Given the description of an element on the screen output the (x, y) to click on. 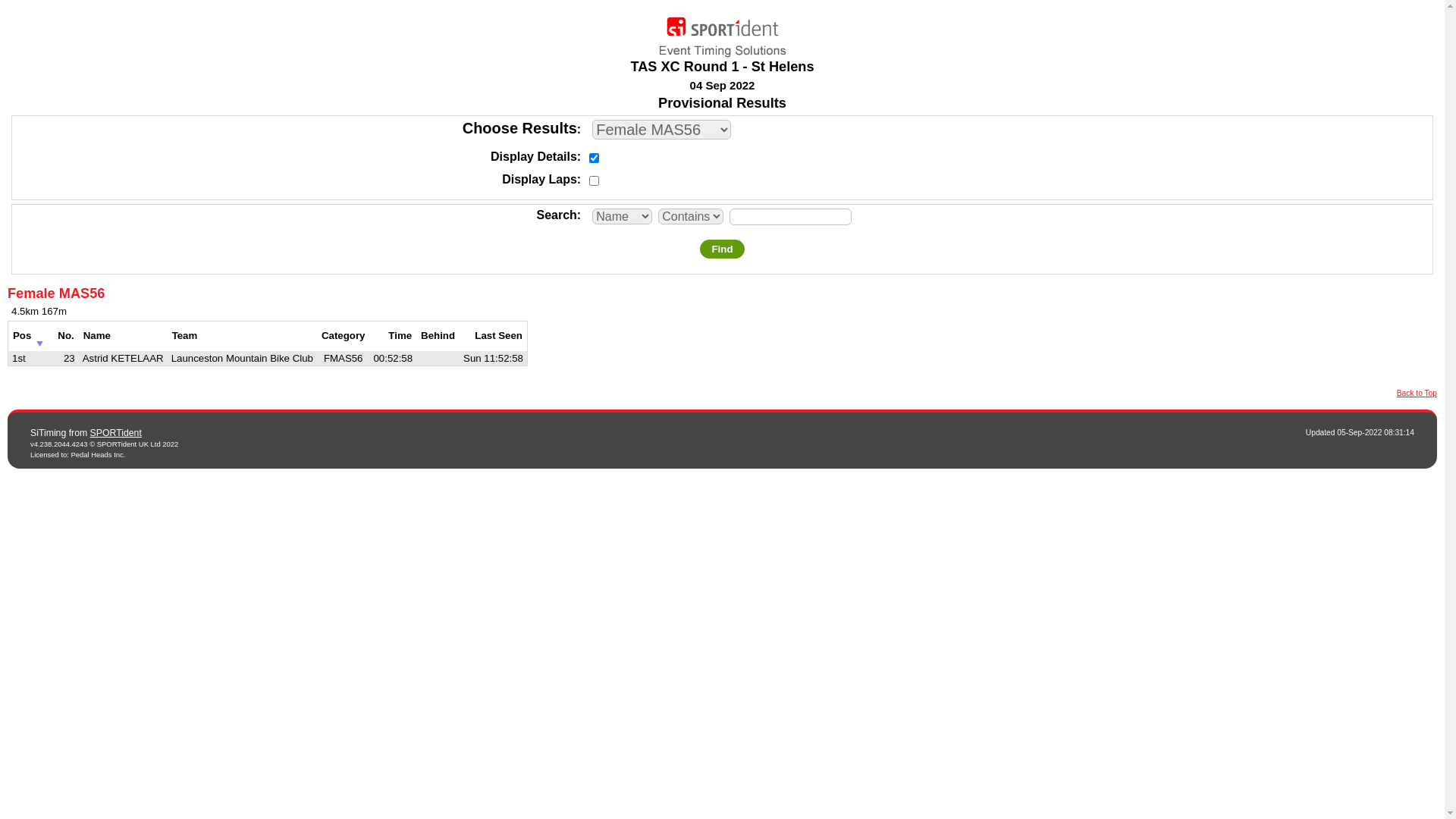
on Element type: text (594, 158)
on Element type: text (594, 180)
Back to Top Element type: text (1416, 393)
Please enter what you would like to search for. Element type: hover (790, 216)
SPORTident Element type: text (115, 432)
Sort by Position Element type: hover (39, 339)
SiTiming from SPORTident Element type: hover (721, 33)
Find Element type: text (721, 248)
